Given the description of an element on the screen output the (x, y) to click on. 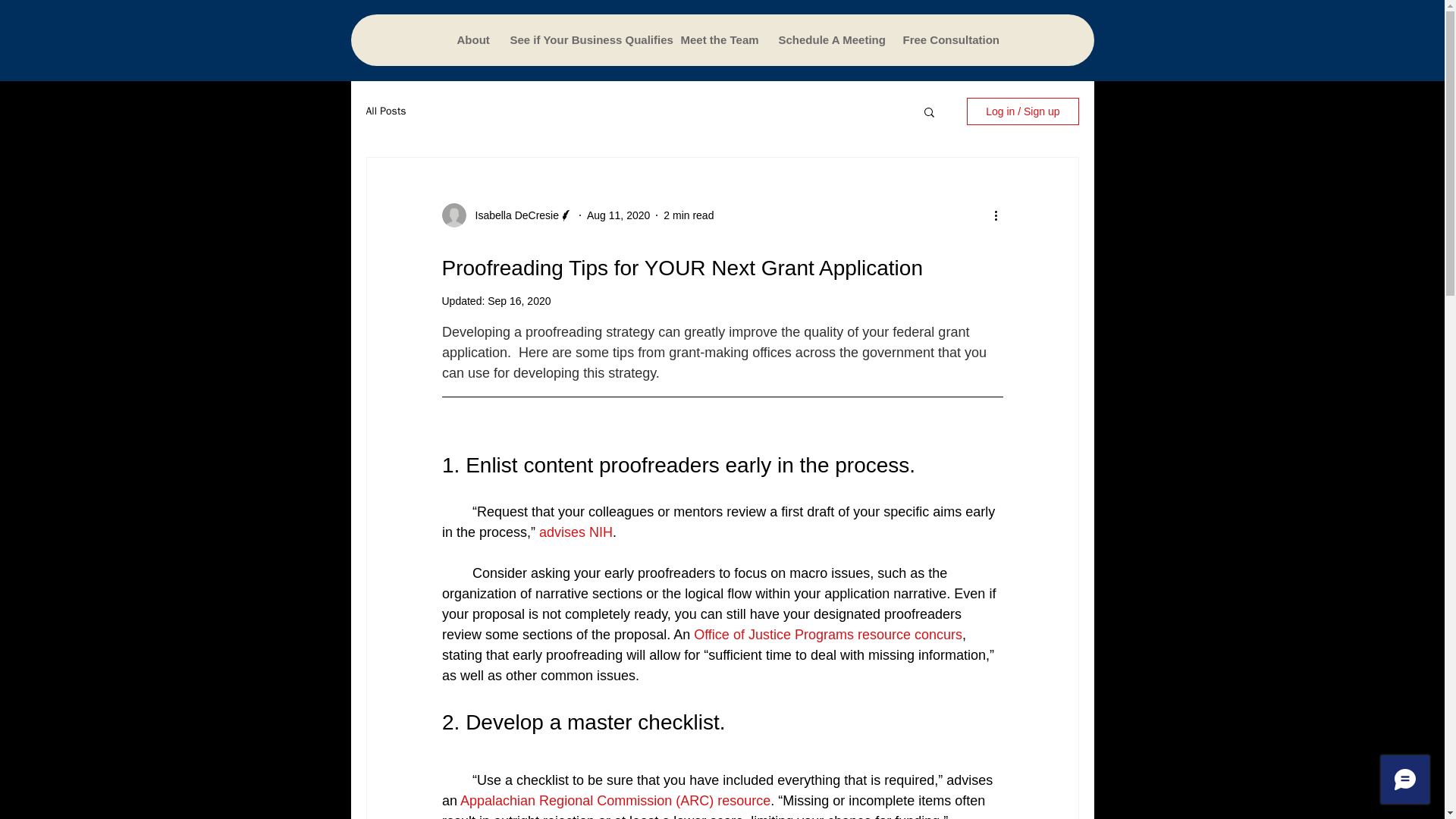
advises NIH (575, 531)
Office of Justice Programs resource concurs (828, 634)
2 min read (688, 215)
Schedule A Meeting (827, 40)
Aug 11, 2020 (617, 215)
See if Your Business Qualifies (582, 40)
All Posts (385, 110)
Sep 16, 2020 (518, 300)
Free Consultation (943, 40)
About (470, 40)
Isabella DeCresie (512, 215)
Meet the Team (717, 40)
